Given the description of an element on the screen output the (x, y) to click on. 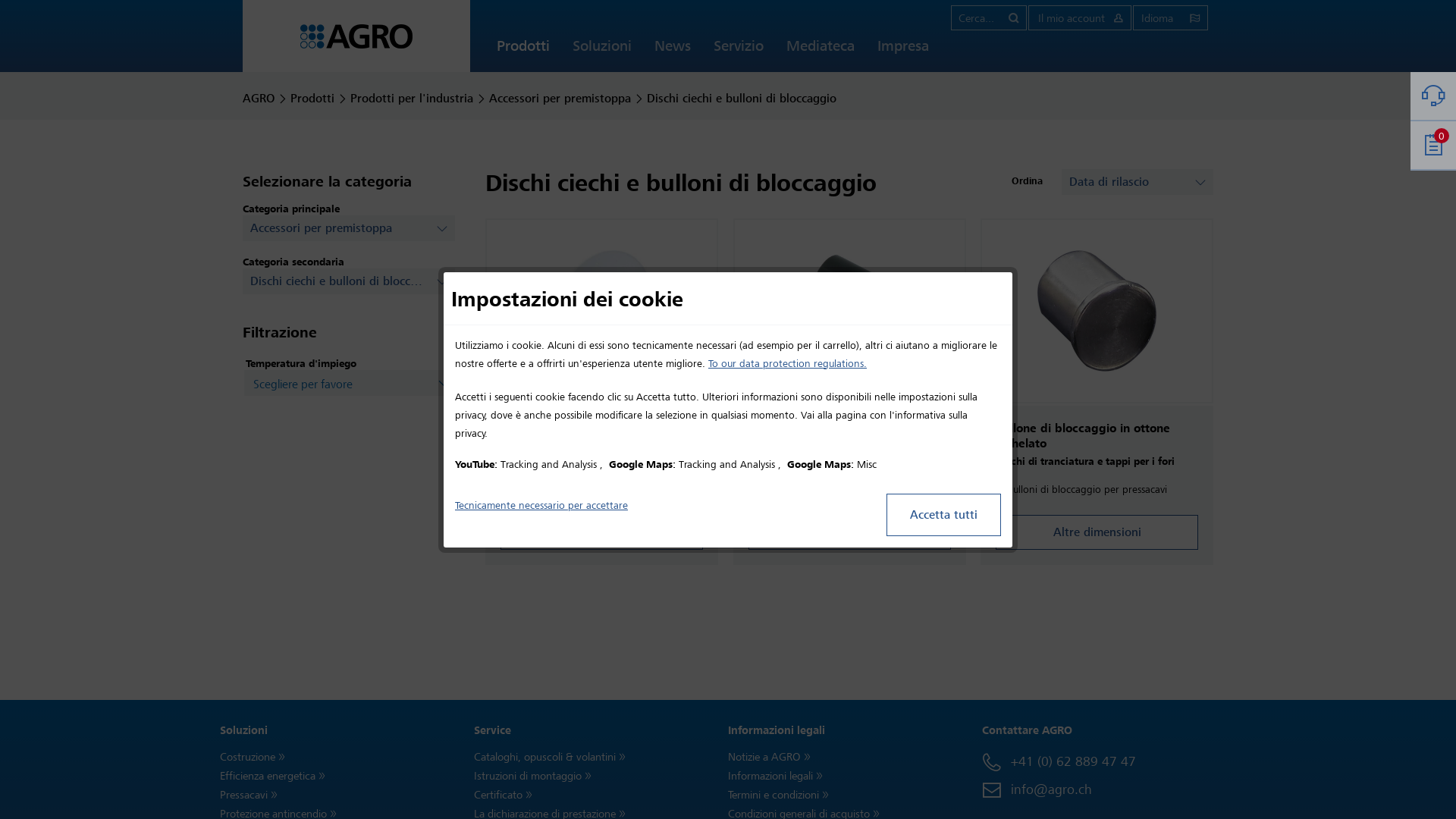
Impresa Element type: text (903, 51)
To our data protection regulations. Element type: text (787, 363)
Istruzioni di montaggio Element type: text (596, 775)
Dischi di tranciatura per premistoppa Element type: hover (601, 310)
Altre dimensioni Element type: text (849, 531)
Tappo a foro sintetico per premistoppa multipli Element type: text (849, 435)
Soluzioni Element type: text (602, 51)
Pressacavi Element type: text (342, 794)
Efficienza energetica Element type: text (342, 775)
Tecnicamente necessario per accettare Element type: text (541, 504)
Tappo a foro sintetico per premistoppa multipli Element type: hover (849, 310)
Accessori per premistoppa Element type: text (559, 98)
Mediateca Element type: text (820, 51)
Dischi di tranciatura per premistoppa Element type: text (601, 435)
Accetta tutti Element type: text (943, 513)
Termini e condizioni Element type: text (855, 794)
Certificato Element type: text (596, 794)
Informazioni legali Element type: text (855, 775)
Cataloghi, opuscoli & volantini Element type: text (596, 756)
Bullone di bloccaggio in ottone nichelato Element type: hover (1096, 310)
Tappo a foro sintetico per premistoppa multipli Element type: hover (849, 310)
News Element type: text (672, 51)
Dischi di tranciatura per premistoppa Element type: hover (601, 310)
Servizio Element type: text (738, 51)
Il mio account Element type: text (1079, 18)
AGRO Element type: text (258, 98)
AGRO - Vai alla Pagina iniziale Element type: hover (356, 36)
Prodotti Element type: text (523, 51)
Altre dimensioni Element type: text (1096, 531)
Notizie a AGRO Element type: text (855, 756)
Bullone di bloccaggio in ottone nichelato Element type: text (1096, 435)
Prodotti per l'industria Element type: text (411, 98)
Bullone di bloccaggio in ottone nichelato Element type: hover (1096, 310)
Costruzione Element type: text (342, 756)
Prodotti Element type: text (312, 98)
Dischi ciechi e bulloni di bloccaggio Element type: text (741, 98)
Altre dimensioni Element type: text (601, 531)
